Given the description of an element on the screen output the (x, y) to click on. 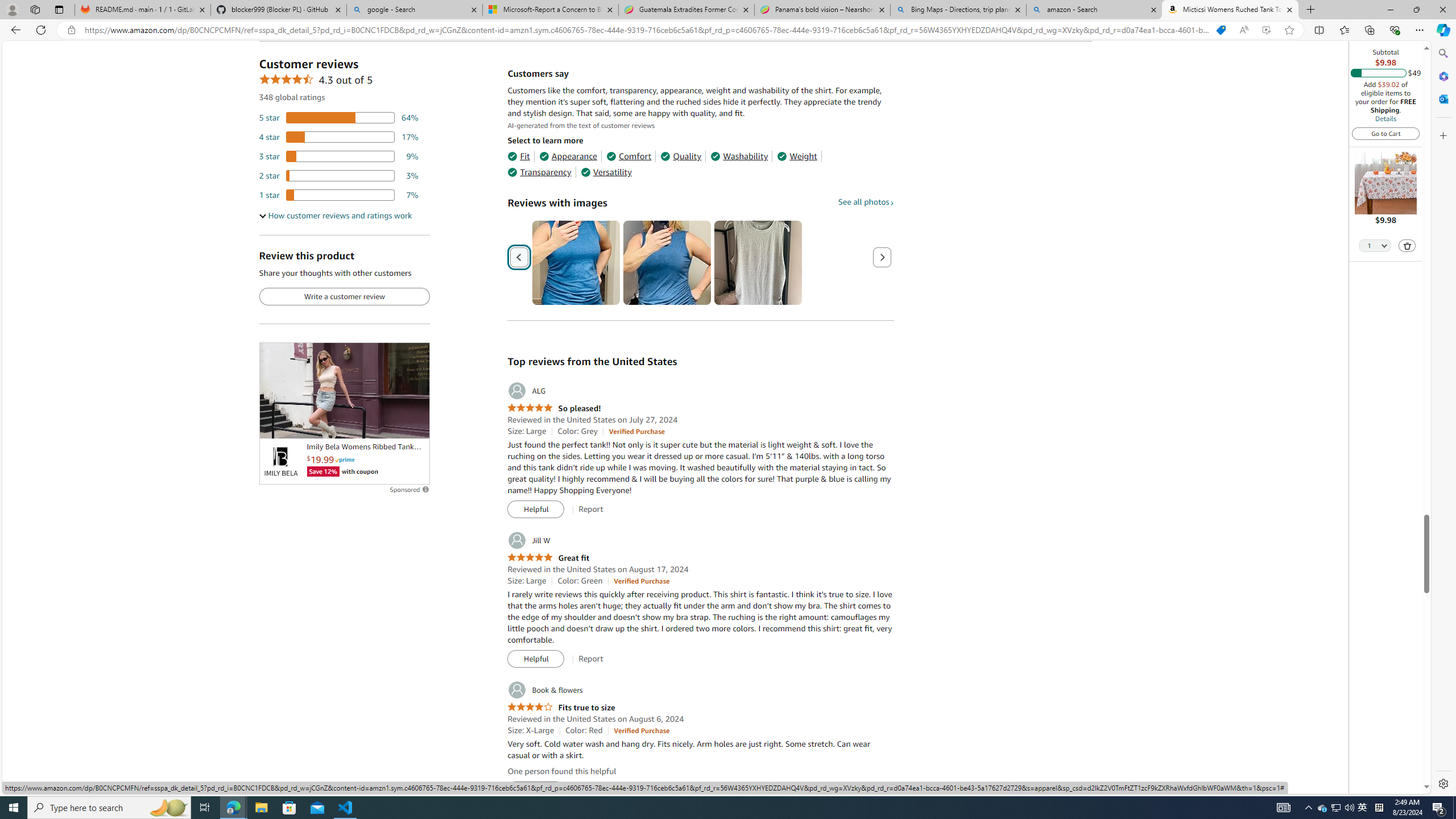
Previous page (518, 256)
Helpful (536, 790)
Fit (517, 156)
Customer Image (758, 262)
Jill W (528, 540)
Quality (681, 156)
